Given the description of an element on the screen output the (x, y) to click on. 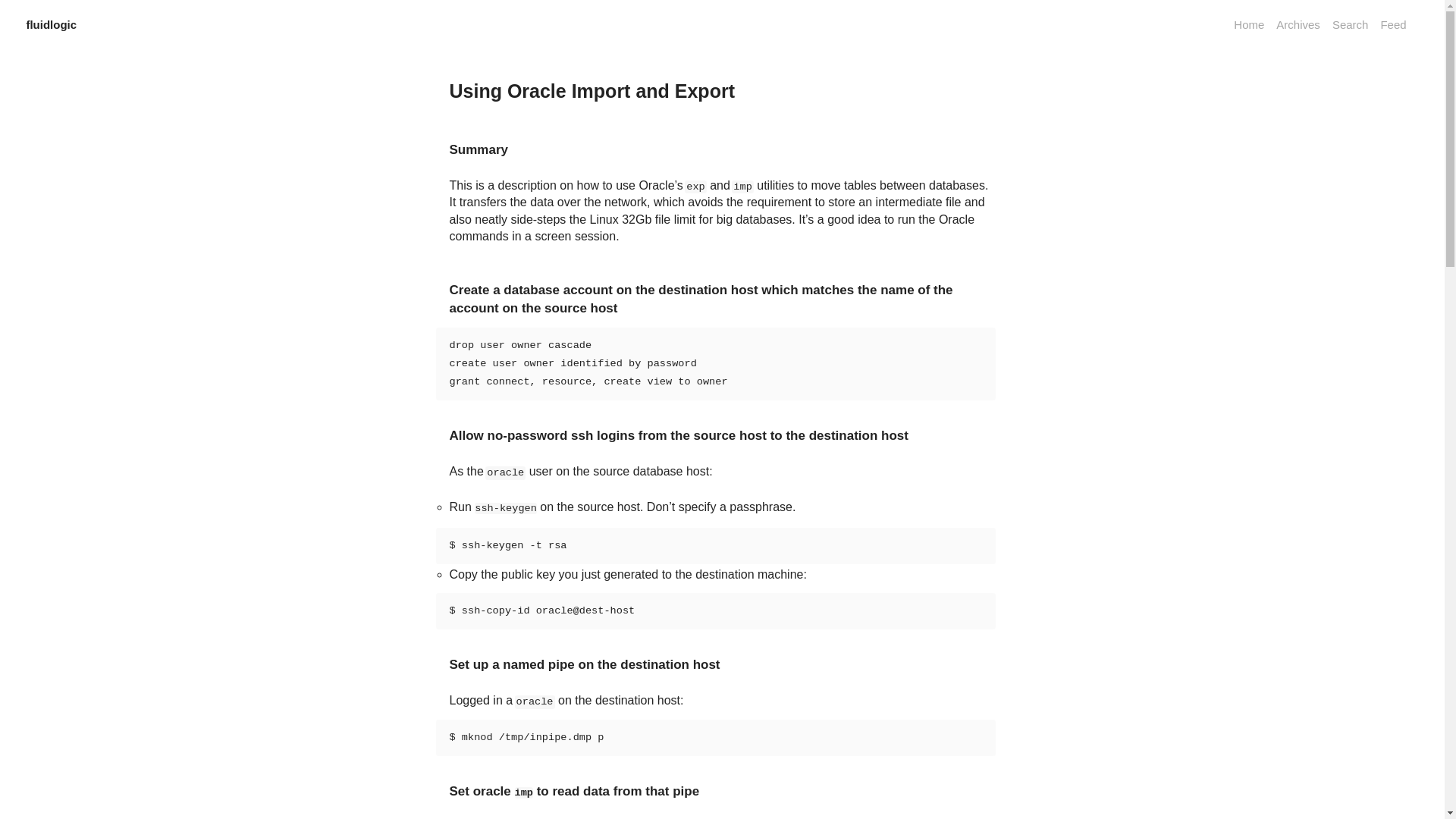
Feed (1393, 24)
Feed (1393, 24)
Home (1248, 24)
Home (1248, 24)
Search (1350, 24)
Archives (1298, 24)
Archives (1298, 24)
Search (1350, 24)
fluidlogic (51, 24)
